Given the description of an element on the screen output the (x, y) to click on. 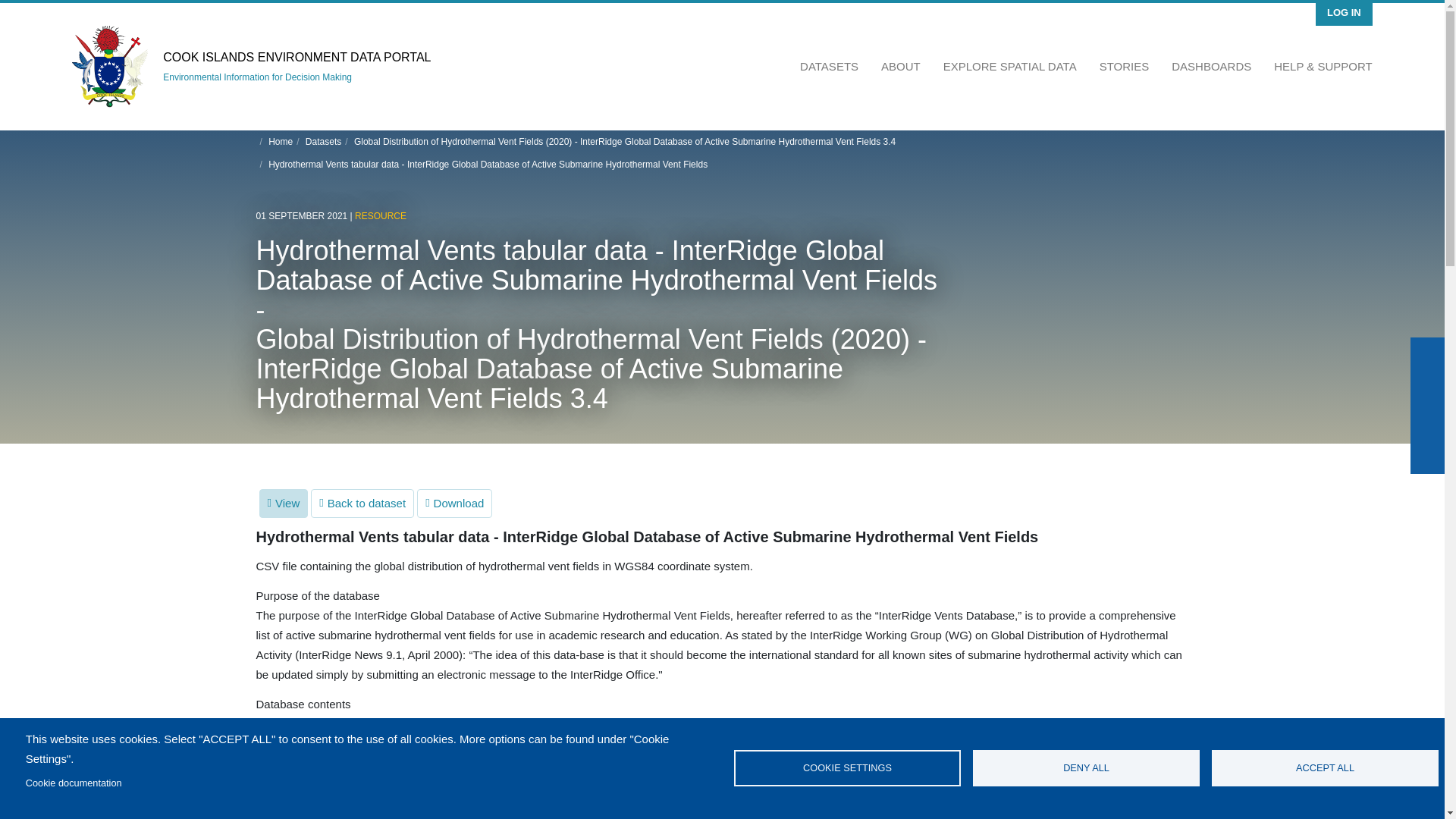
DASHBOARDS (1211, 66)
STORIES (1123, 66)
DATASETS (829, 66)
Cookie documentation (74, 783)
ABOUT (900, 66)
Back to dataset (362, 502)
Home (279, 141)
LOG IN (1344, 12)
Datasets (322, 141)
COOKIE SETTINGS (846, 768)
Download (454, 502)
EXPLORE SPATIAL DATA (1009, 66)
